Given the description of an element on the screen output the (x, y) to click on. 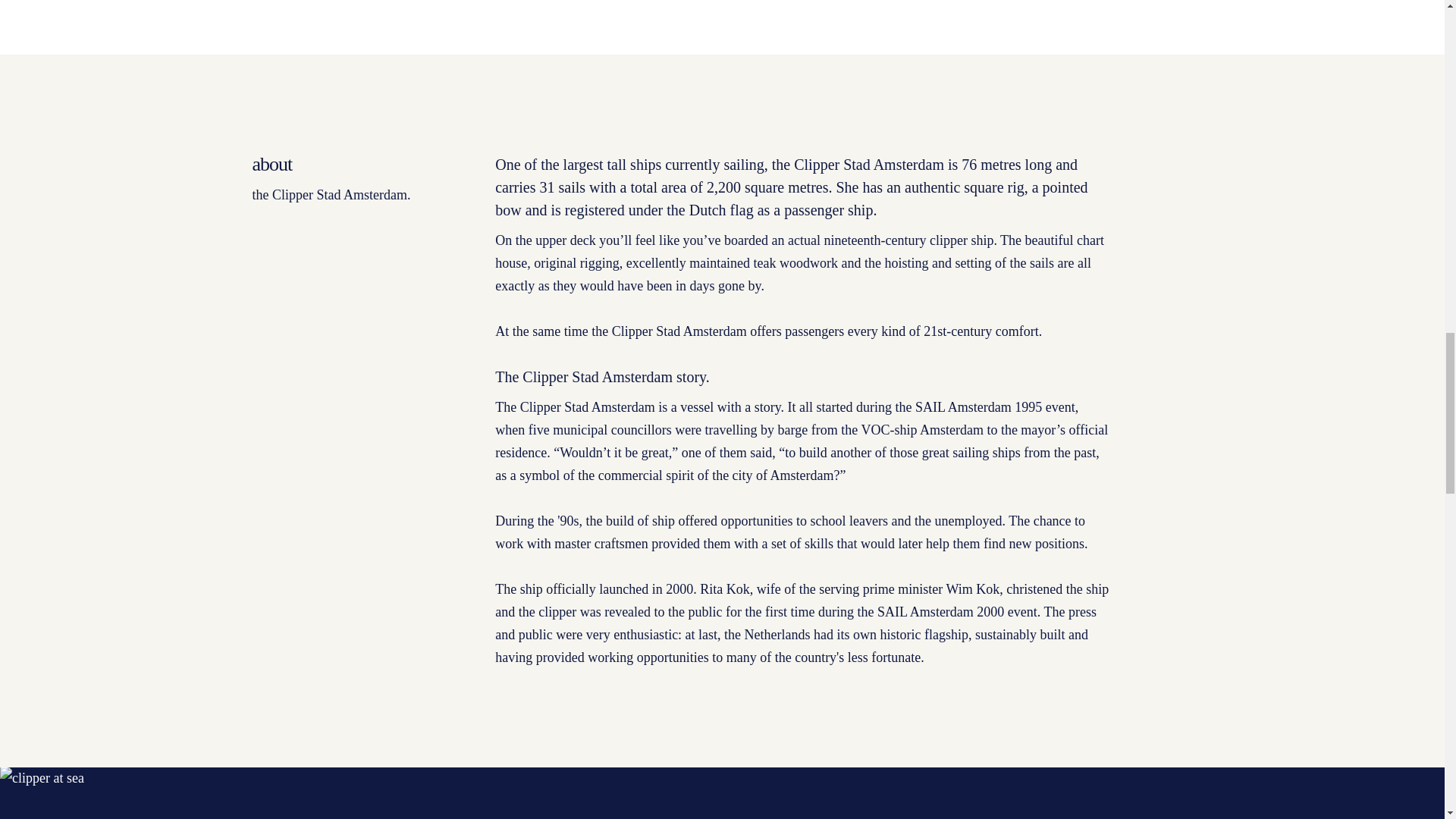
clipper at sea (361, 792)
